Given the description of an element on the screen output the (x, y) to click on. 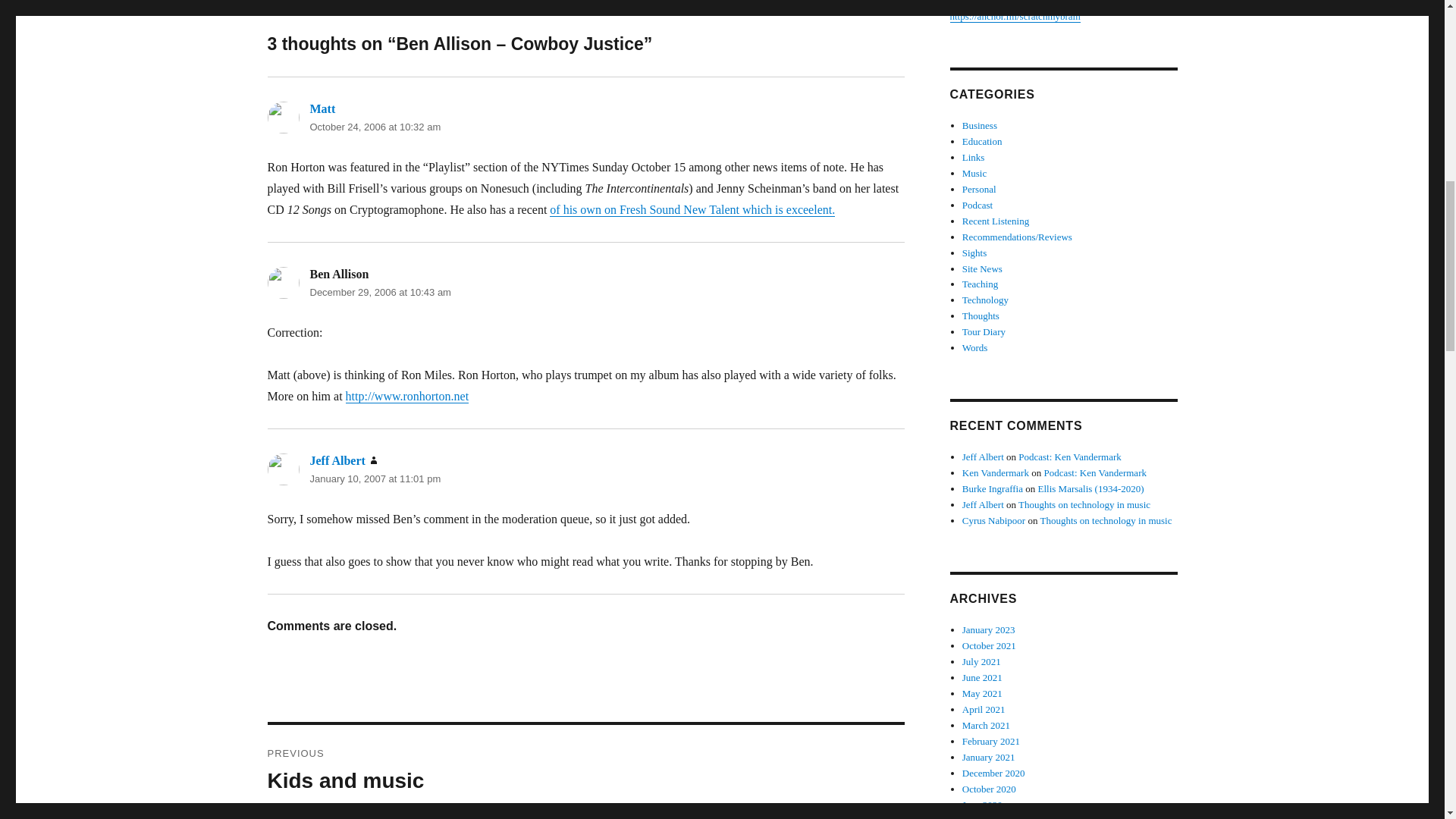
Business (979, 125)
Education (982, 141)
Technology (985, 299)
Sights (974, 252)
Site News (982, 267)
Links (973, 156)
Music (974, 173)
Recent Listening (995, 220)
of his own on Fresh Sound New Talent which is exceelent. (692, 209)
January 10, 2007 at 11:01 pm (374, 478)
Matt (321, 108)
Thoughts (980, 315)
Tour Diary (984, 331)
December 29, 2006 at 10:43 am (378, 292)
Jeff Albert (336, 460)
